Given the description of an element on the screen output the (x, y) to click on. 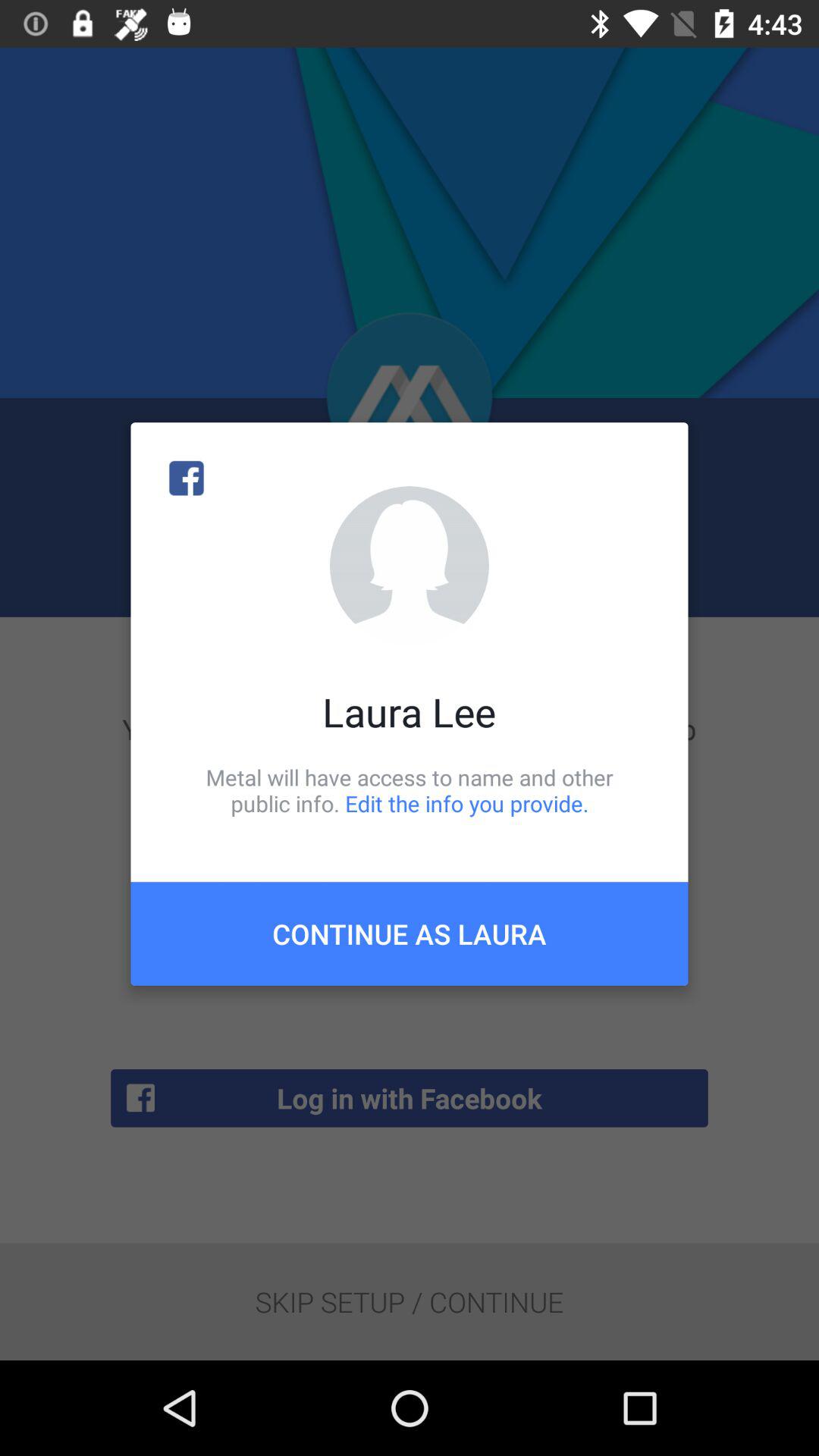
press metal will have item (409, 790)
